Given the description of an element on the screen output the (x, y) to click on. 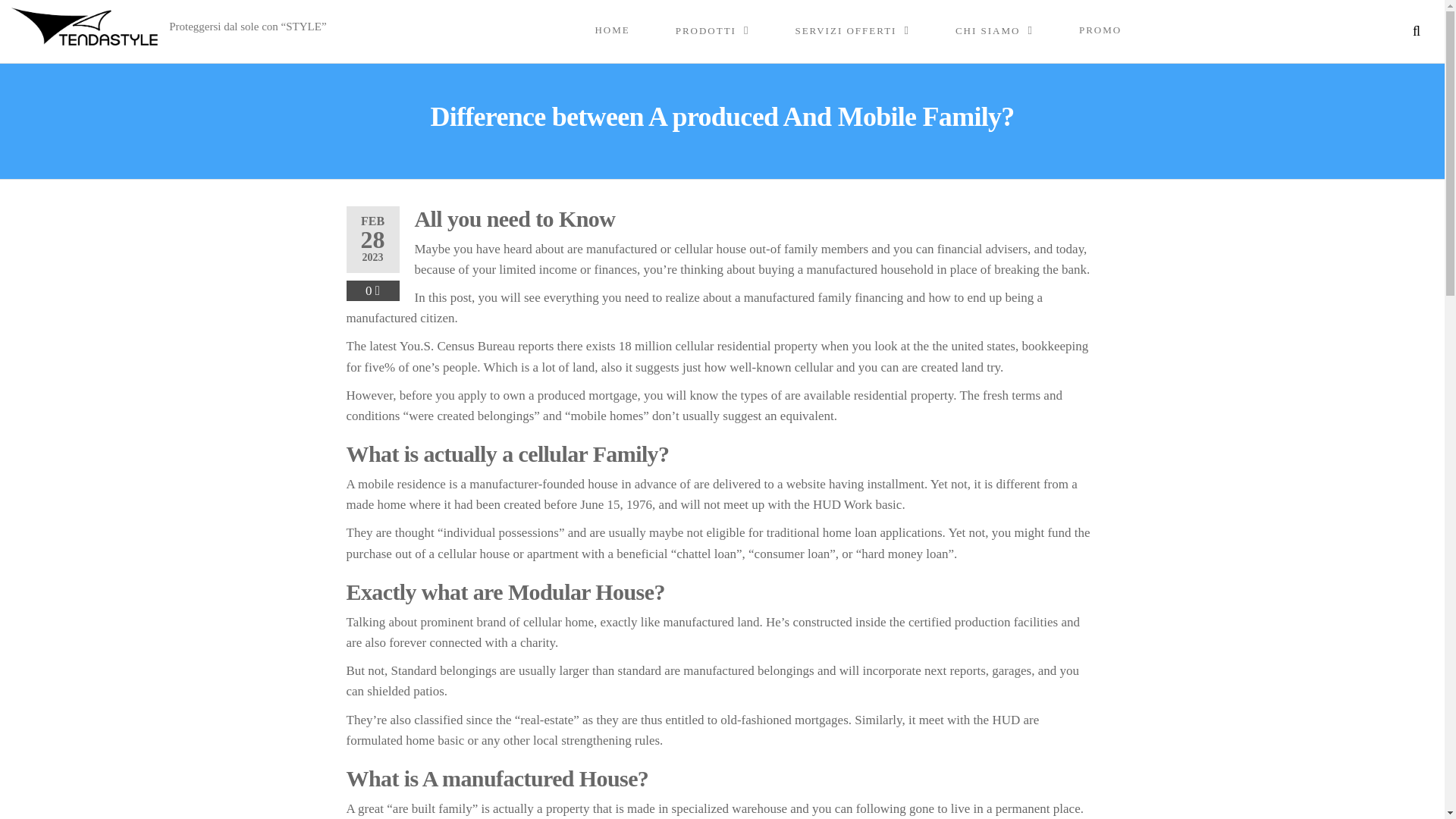
Servizi Offerti (851, 30)
SERVIZI OFFERTI (851, 30)
CHI SIAMO (995, 30)
Home (612, 30)
PROMO (1100, 30)
HOME (612, 30)
PRODOTTI (712, 30)
Prodotti (712, 30)
